Given the description of an element on the screen output the (x, y) to click on. 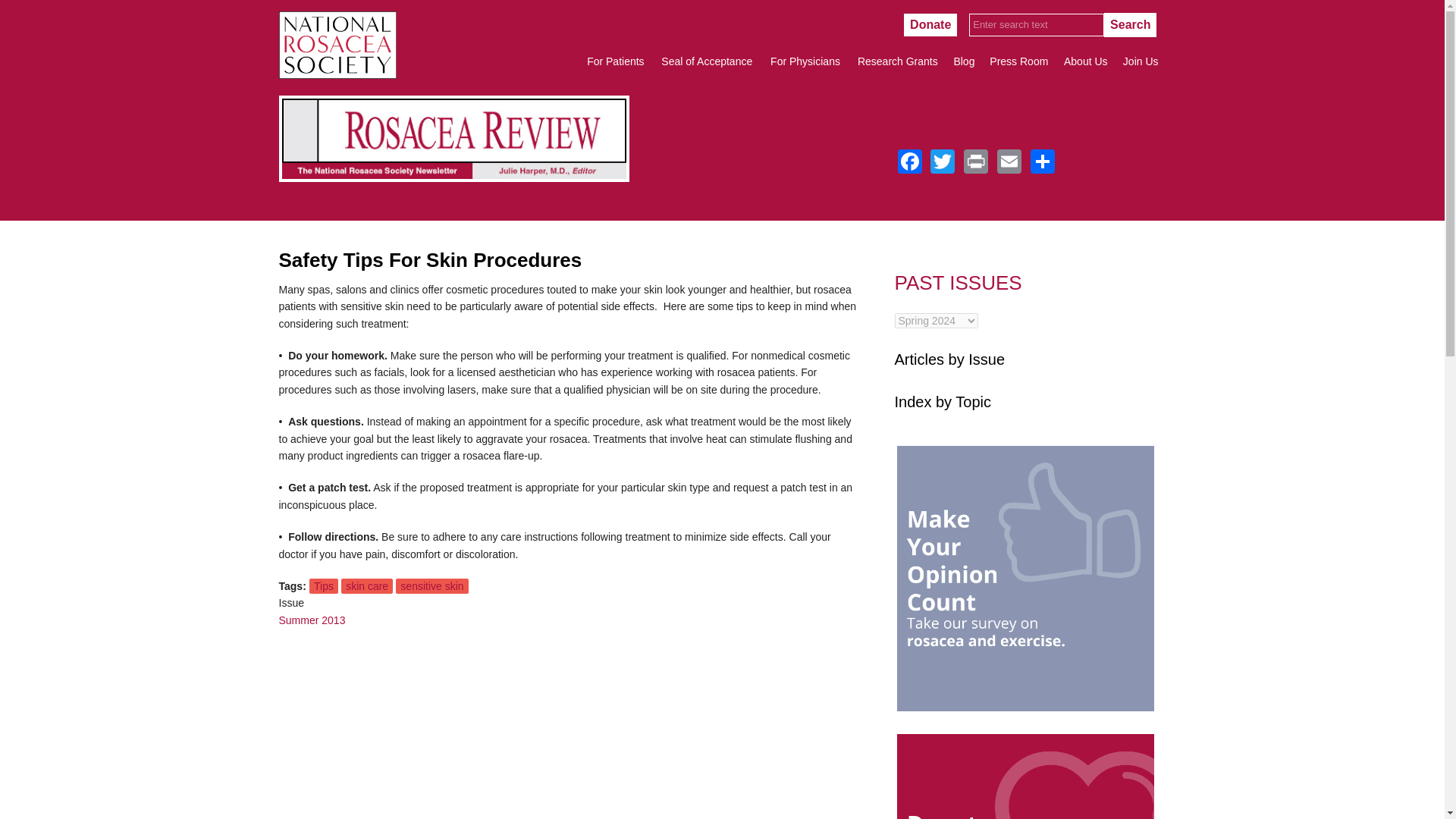
Home (337, 74)
For Patients (615, 61)
Search (1129, 24)
